Given the description of an element on the screen output the (x, y) to click on. 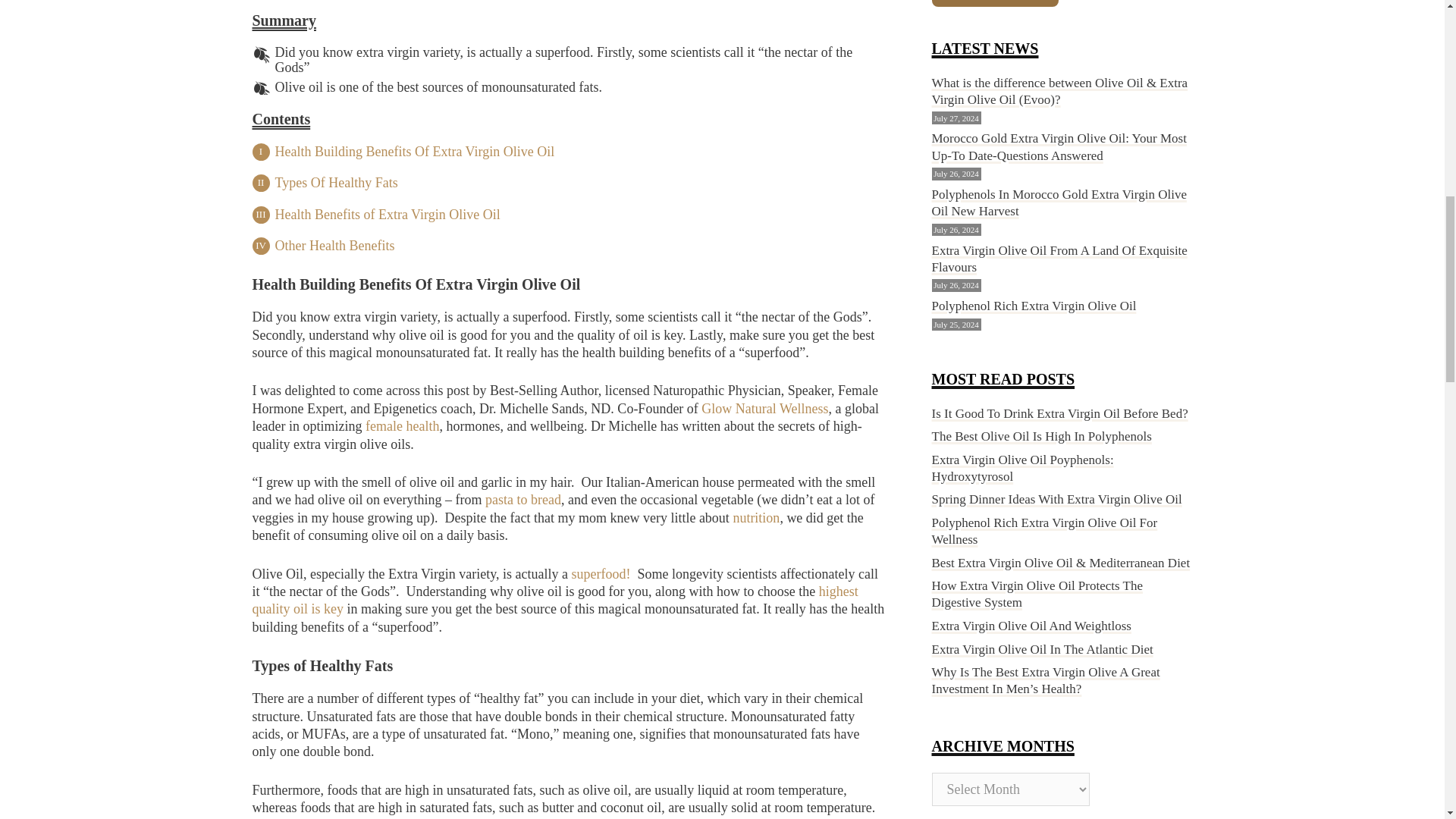
Health Building Benefits Of Extra Virgin Olive Oil (414, 151)
